Given the description of an element on the screen output the (x, y) to click on. 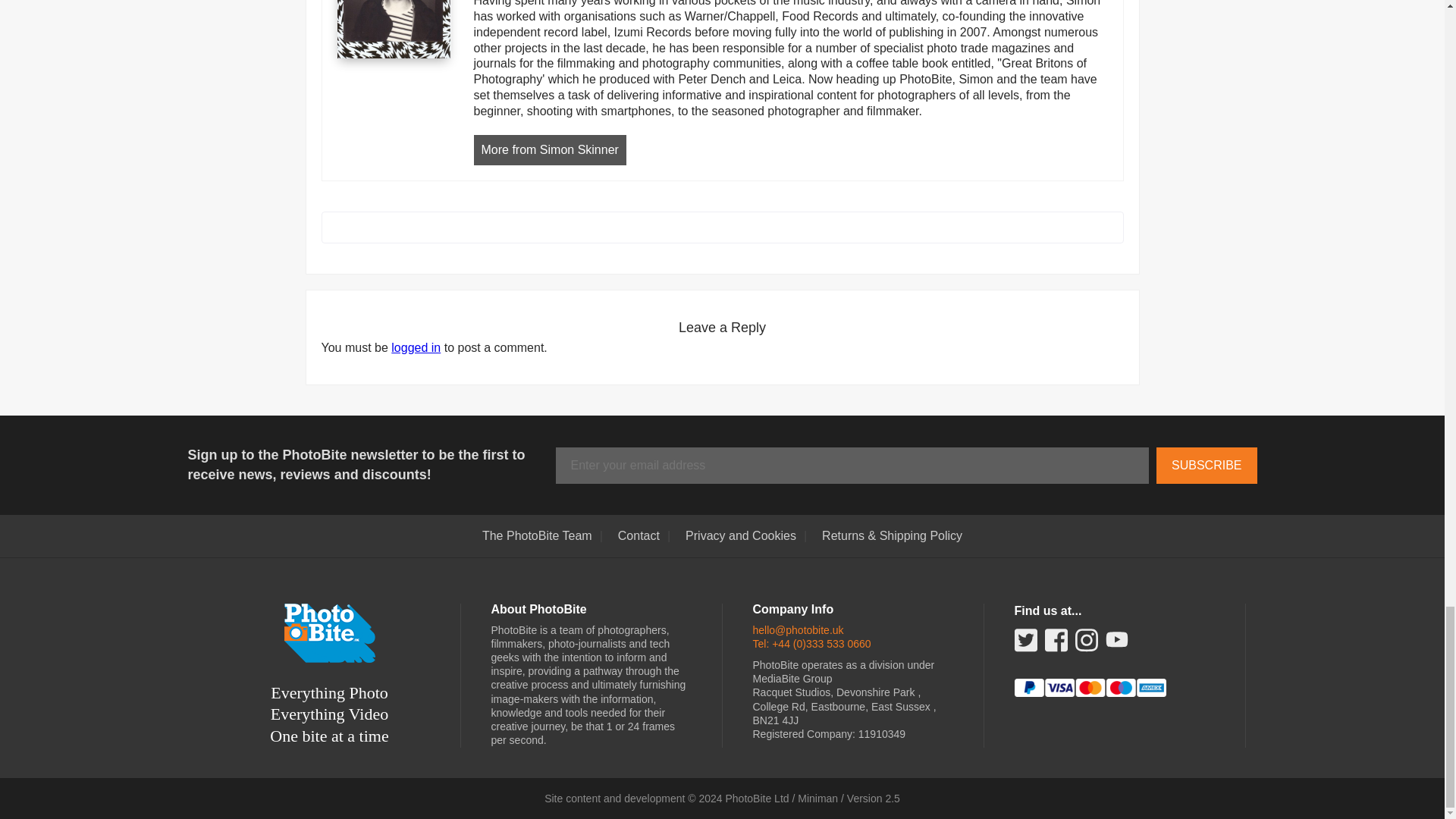
Find us on Facebook (1056, 644)
Find us on YouTube (1116, 641)
Find us on Instagram (1086, 644)
Find us on Twitter (1025, 644)
